Given the description of an element on the screen output the (x, y) to click on. 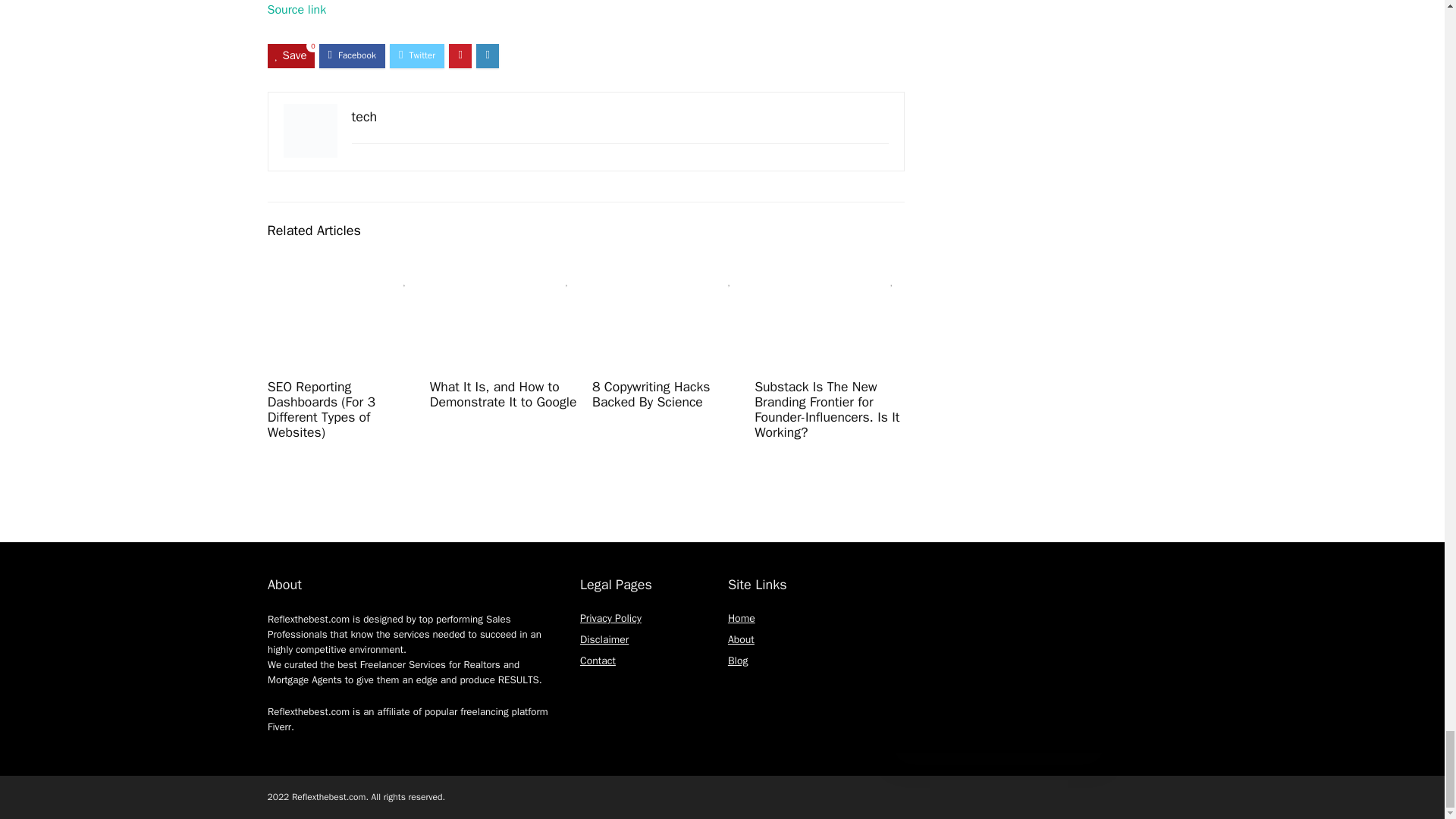
tech (364, 116)
Source link (296, 9)
